Given the description of an element on the screen output the (x, y) to click on. 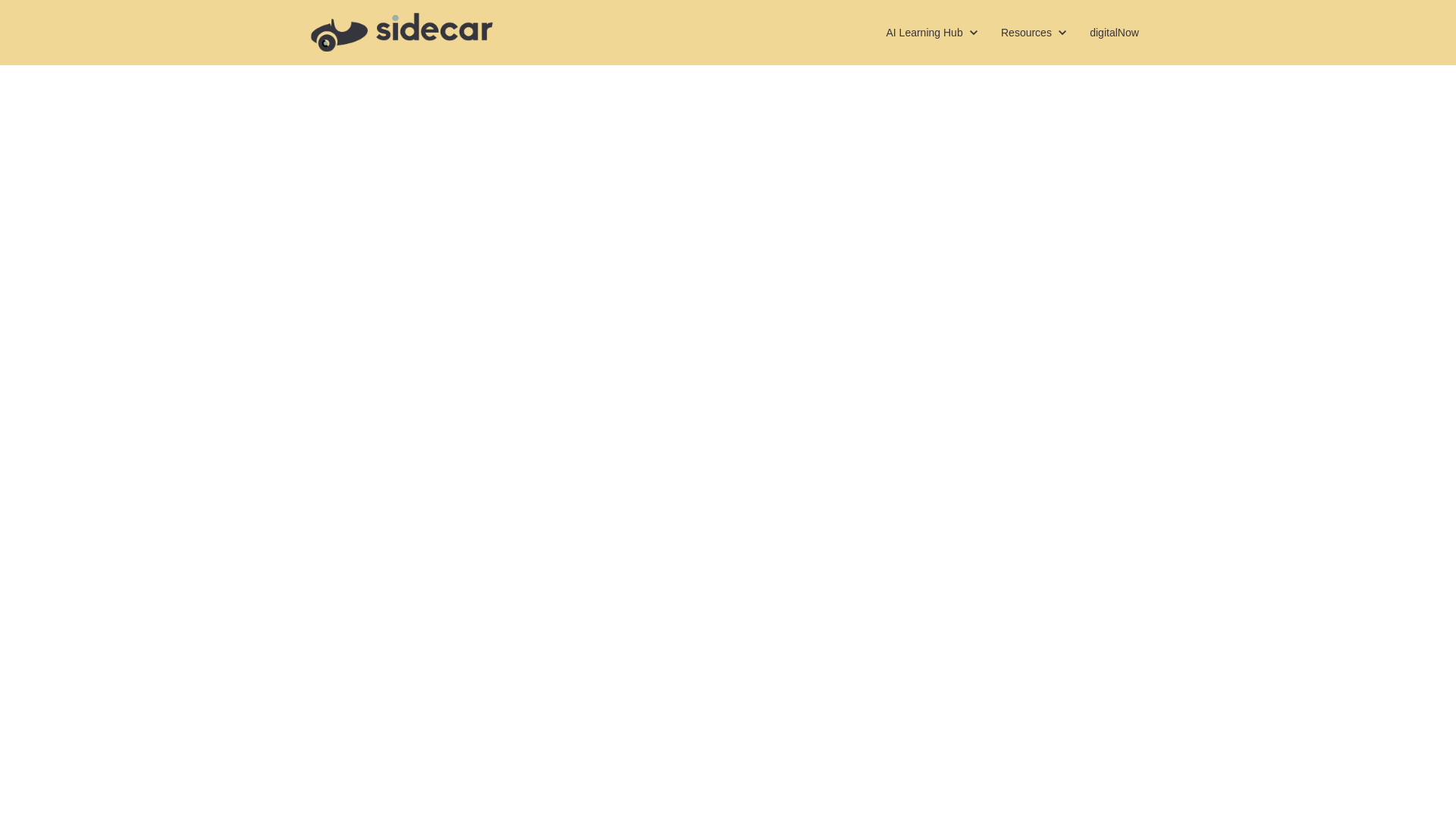
digitalNow (1034, 32)
